Given the description of an element on the screen output the (x, y) to click on. 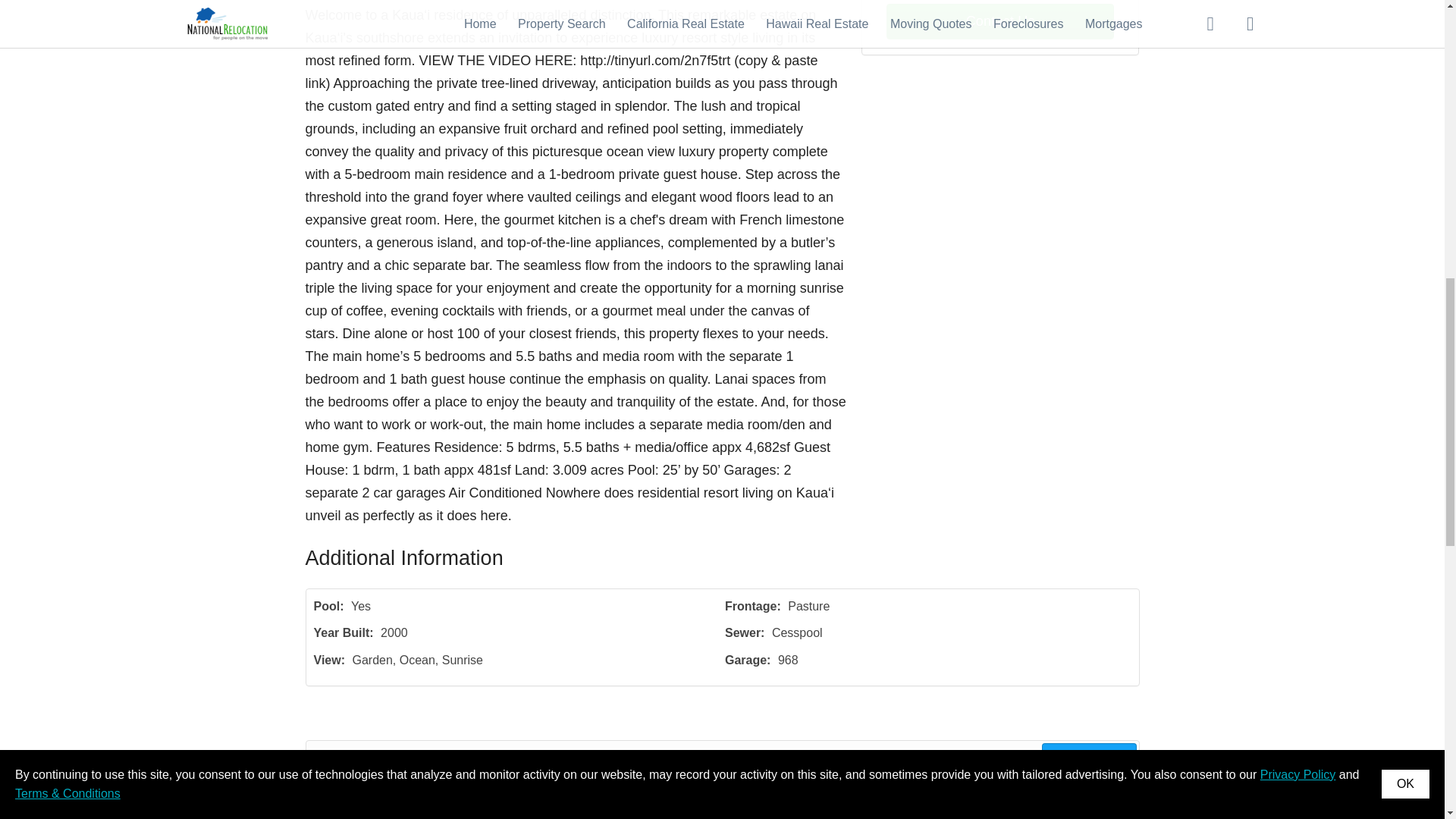
Contact Us (999, 21)
